Given the description of an element on the screen output the (x, y) to click on. 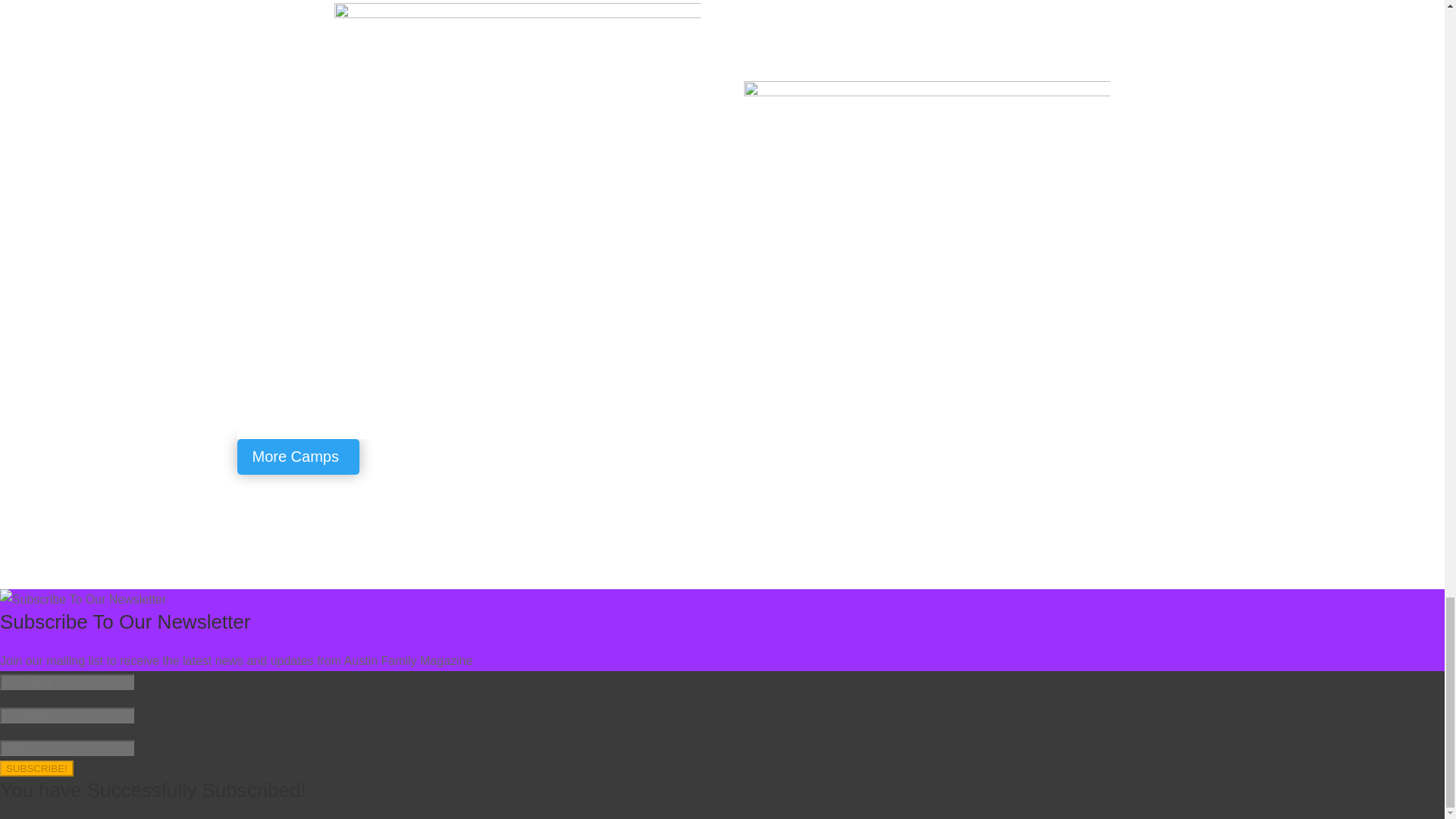
Stepping-Stone-Summer-camp-pix-24 (927, 29)
Stepping-Stone-23-image1 (927, 223)
Stepping-Stone-23-image2 (516, 125)
